Given the description of an element on the screen output the (x, y) to click on. 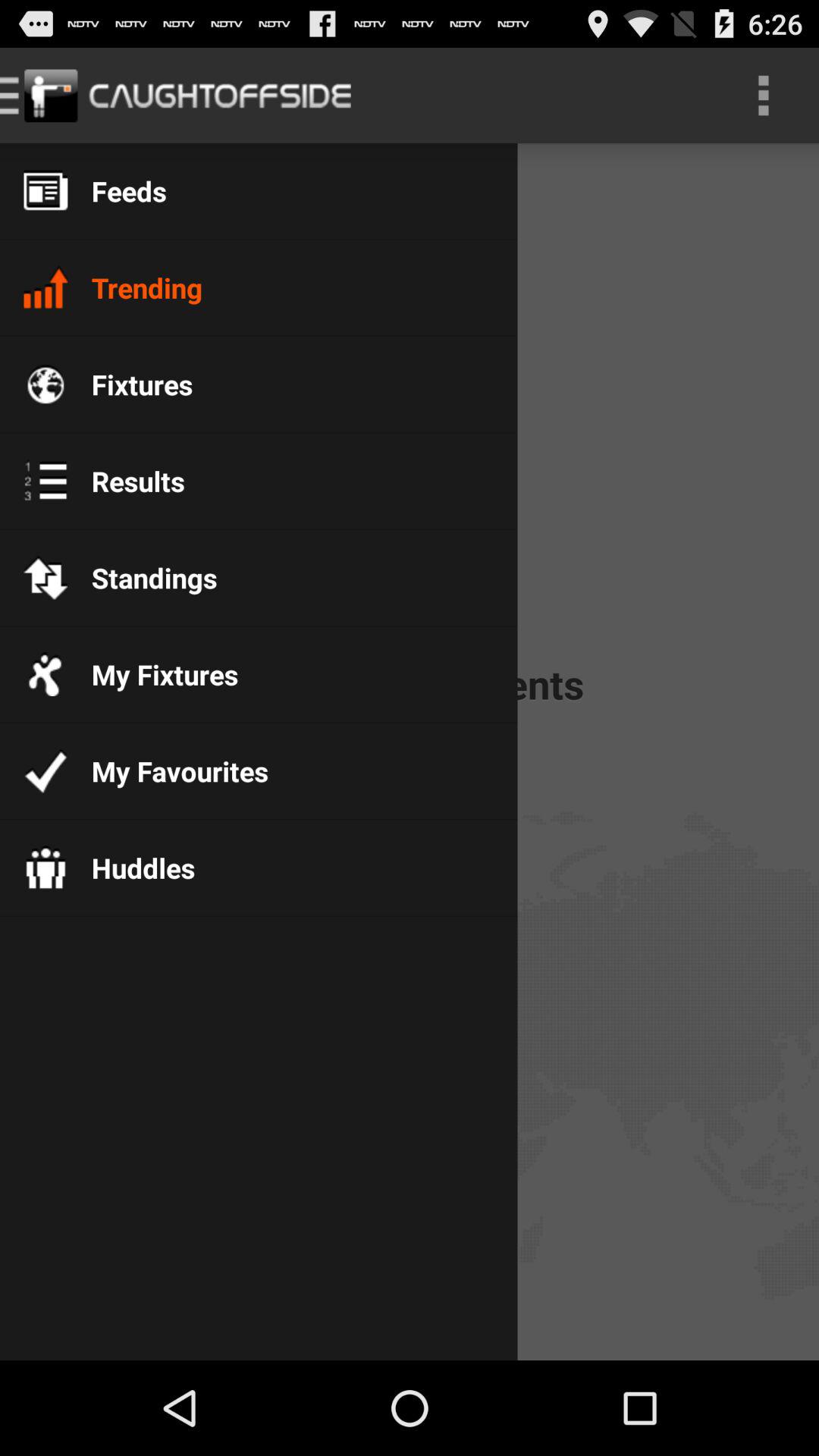
choose the my favourites item (167, 770)
